Given the description of an element on the screen output the (x, y) to click on. 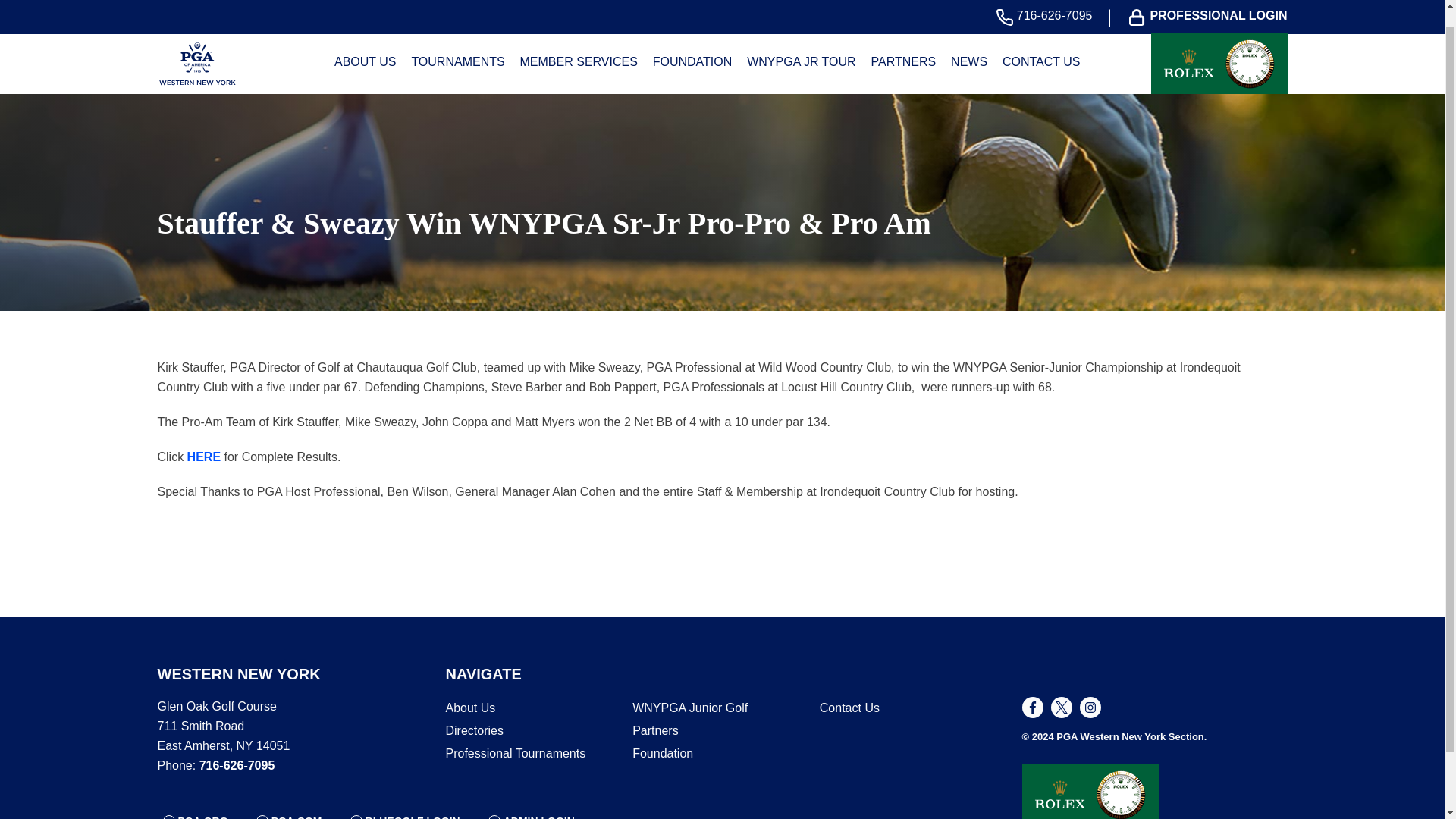
Twitter (1061, 707)
Facebook (1032, 707)
Instagram (1090, 707)
716-626-7095 (1048, 0)
